Given the description of an element on the screen output the (x, y) to click on. 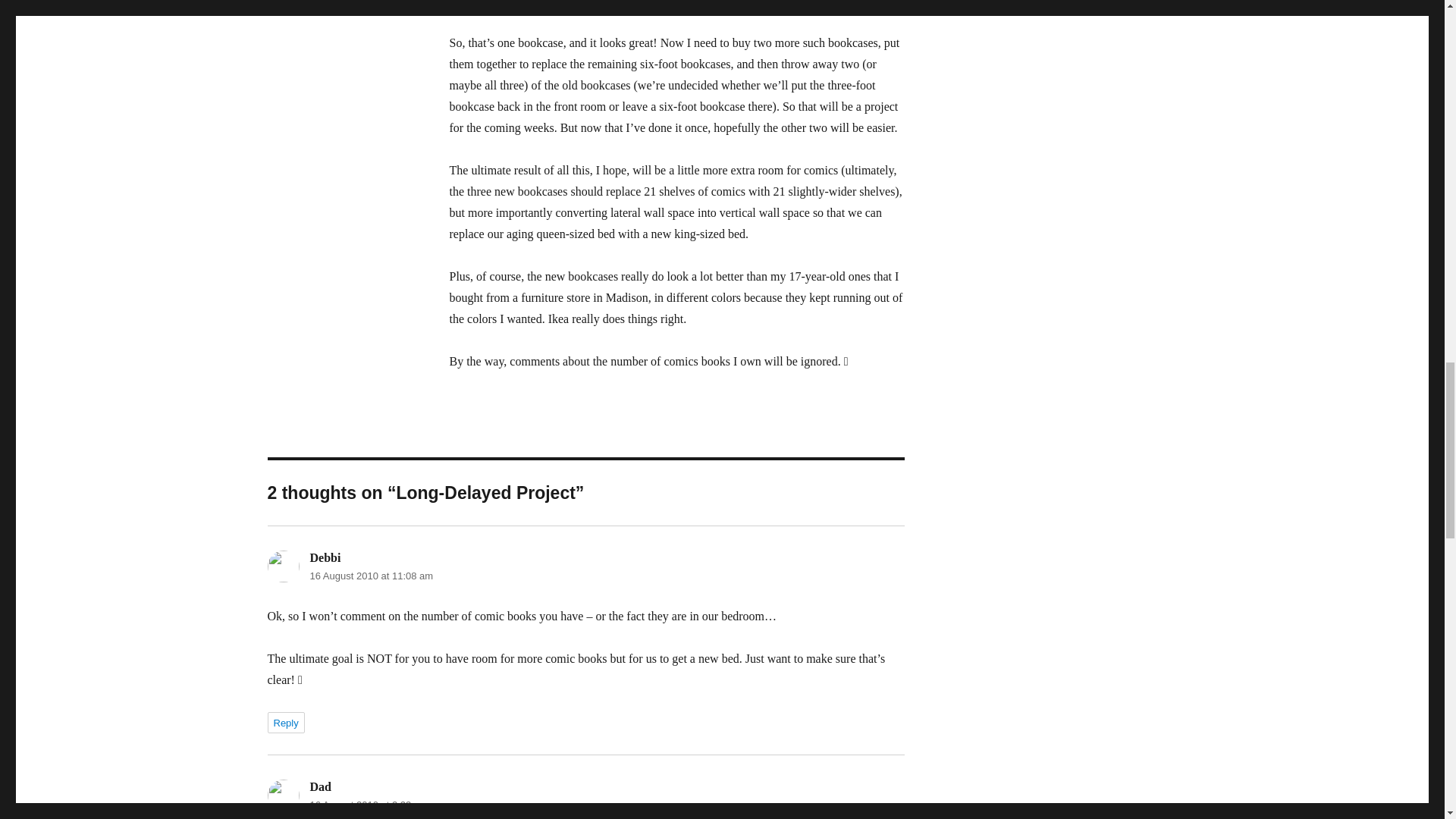
Reply (285, 722)
16 August 2010 at 11:08 am (370, 575)
16 August 2010 at 2:23 pm (367, 804)
